Given the description of an element on the screen output the (x, y) to click on. 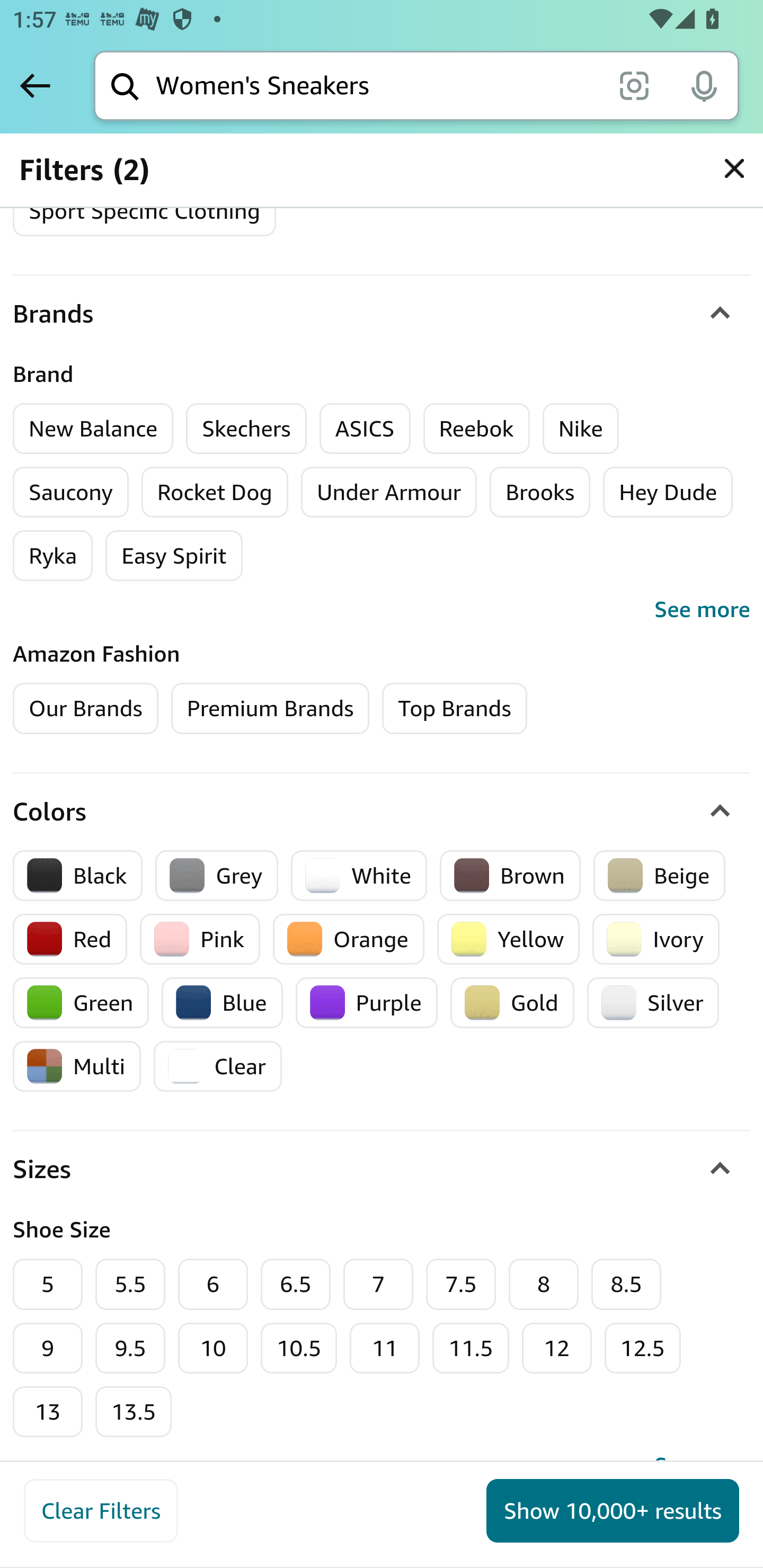
Back (35, 85)
scan it (633, 85)
Sport Specific Clothing (144, 210)
Brands (381, 313)
New Balance (93, 427)
Skechers (246, 427)
ASICS (365, 427)
Reebok (476, 427)
Nike (580, 427)
Saucony (70, 491)
Rocket Dog (214, 491)
Under Armour (389, 491)
Brooks (540, 491)
Hey Dude (668, 491)
Ryka (52, 555)
Easy Spirit (174, 555)
See more, Brand See more (381, 608)
Our Brands (85, 707)
Premium Brands (270, 707)
Top Brands (454, 707)
Colors (381, 811)
Black Black Black Black (77, 874)
Grey Grey Grey Grey (217, 874)
White White White White (358, 874)
Brown Brown Brown Brown (509, 874)
Beige Beige Beige Beige (659, 874)
Red Red Red Red (70, 938)
Pink Pink Pink Pink (199, 938)
Orange Orange Orange Orange (347, 938)
Yellow Yellow Yellow Yellow (507, 938)
Ivory Ivory Ivory Ivory (655, 938)
Green Green Green Green (80, 1002)
Blue Blue Blue Blue (221, 1002)
Purple Purple Purple Purple (365, 1002)
Gold Gold Gold Gold (512, 1002)
Silver Silver Silver Silver (653, 1002)
Multi Multi Multi Multi (76, 1066)
Clear Clear Clear Clear (217, 1066)
Sizes (381, 1170)
5 (47, 1284)
5.5 (130, 1284)
6 (212, 1284)
6.5 (295, 1284)
7 (378, 1284)
7.5 (460, 1284)
8 (543, 1284)
8.5 (626, 1284)
9 (47, 1348)
9.5 (130, 1348)
10 (212, 1348)
10.5 (299, 1348)
11 (385, 1348)
11.5 (471, 1348)
12 (556, 1348)
12.5 (643, 1348)
13 (47, 1411)
13.5 (134, 1411)
Clear Filters (100, 1510)
Show 10,000+ results (612, 1510)
